Given the description of an element on the screen output the (x, y) to click on. 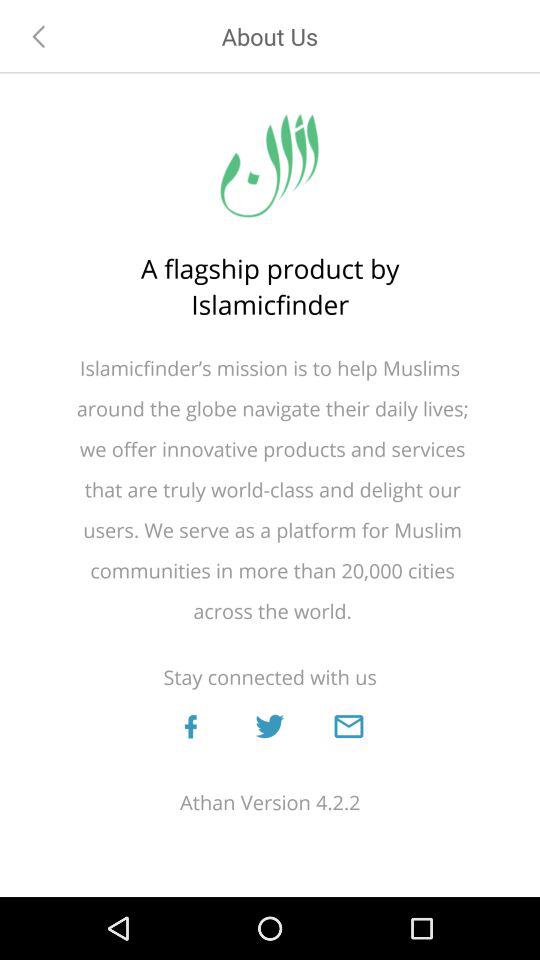
go back (39, 36)
